Given the description of an element on the screen output the (x, y) to click on. 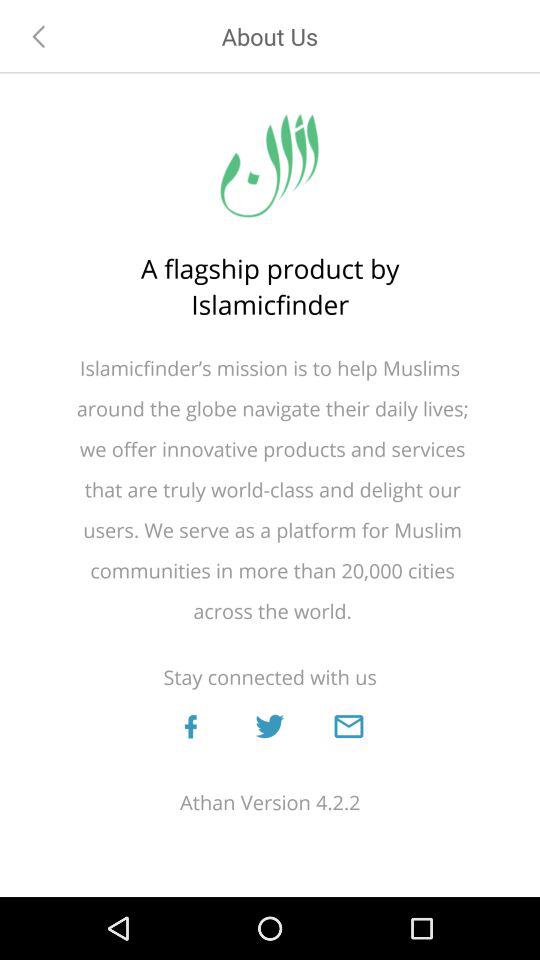
go back (39, 36)
